Given the description of an element on the screen output the (x, y) to click on. 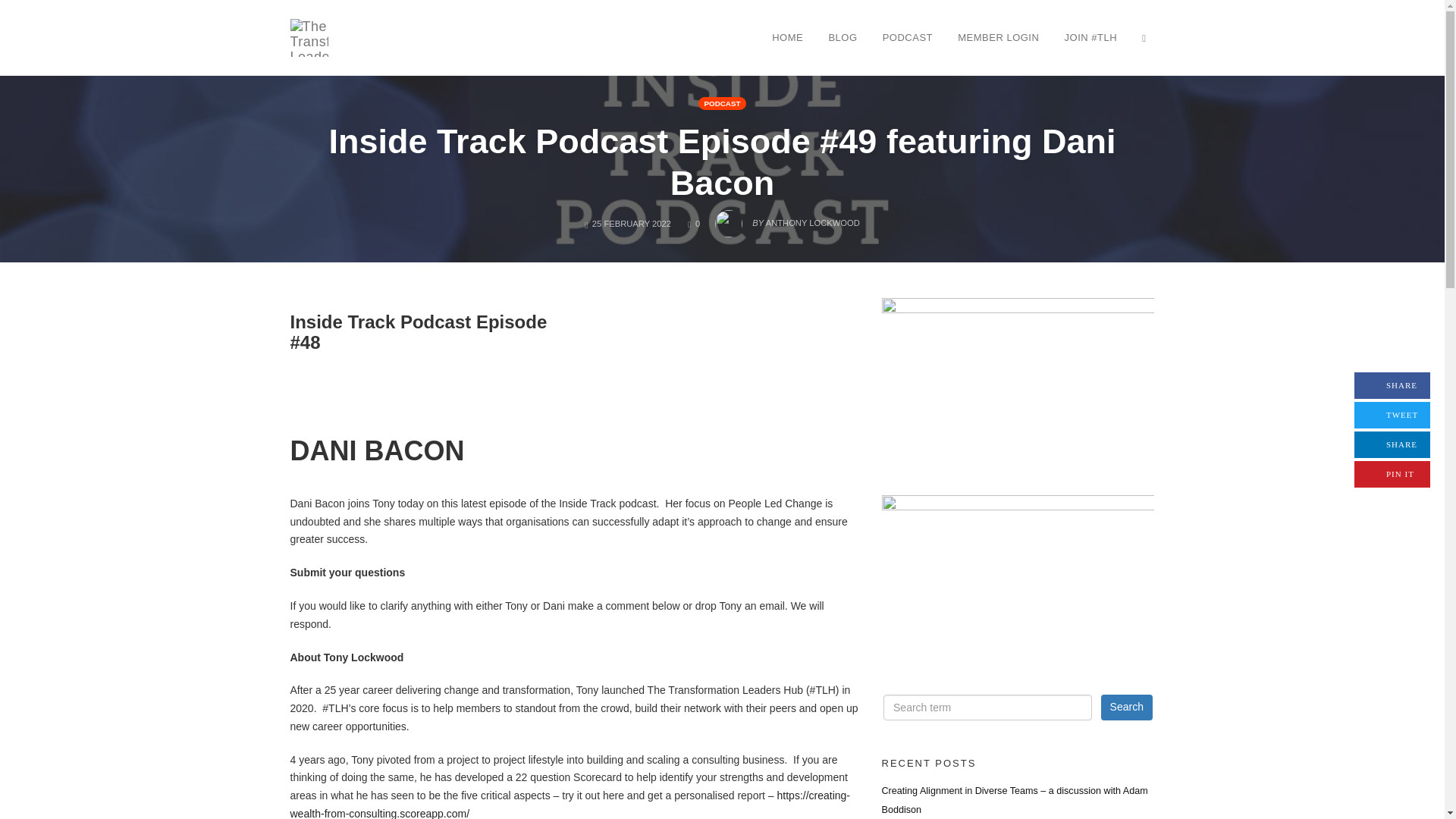
Create Wealth from Consulting (1017, 571)
OPEN SEARCH FORM (1144, 37)
Search (1126, 707)
MEMBER LOGIN (997, 37)
PODCAST (907, 37)
The Transformation Leaders Hub (308, 37)
BY ANTHONY LOCKWOOD (787, 218)
HOME (786, 37)
